Given the description of an element on the screen output the (x, y) to click on. 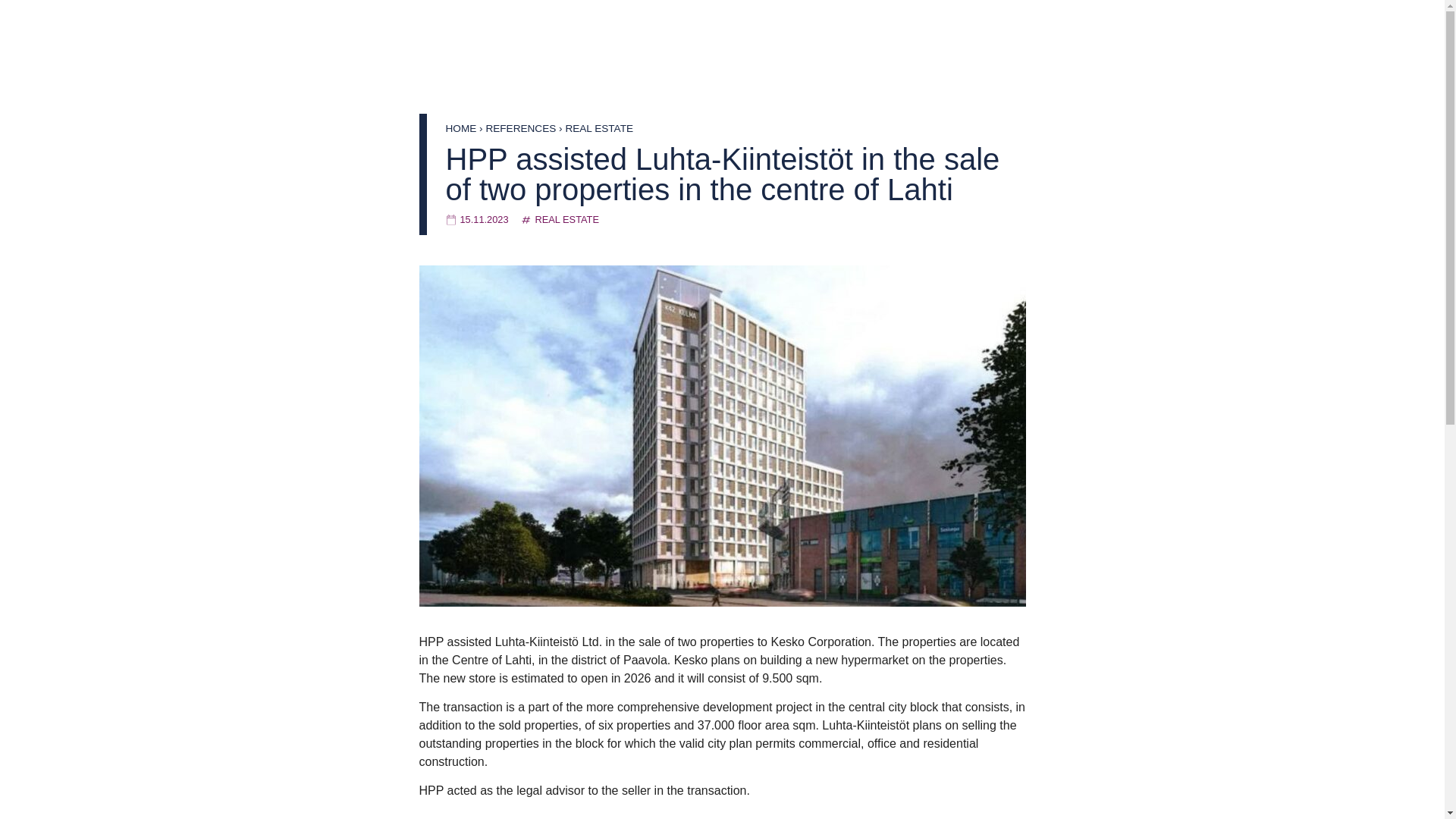
HOME (461, 128)
REAL ESTATE (598, 128)
REFERENCES (520, 128)
REAL ESTATE (566, 219)
